Given the description of an element on the screen output the (x, y) to click on. 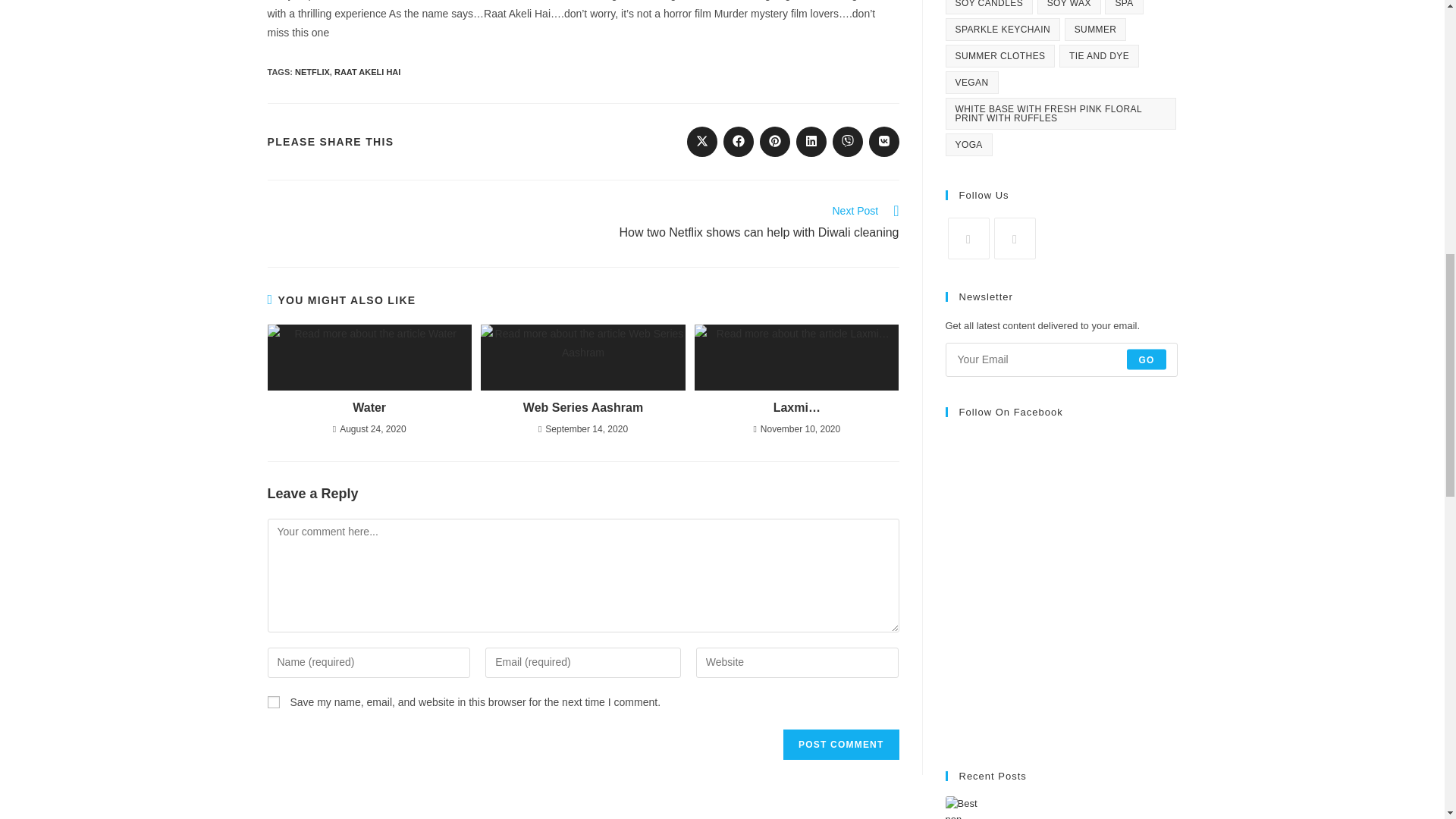
yes (272, 702)
Best non-Chinese smartphones to buy in India (969, 807)
Post Comment (840, 744)
